Given the description of an element on the screen output the (x, y) to click on. 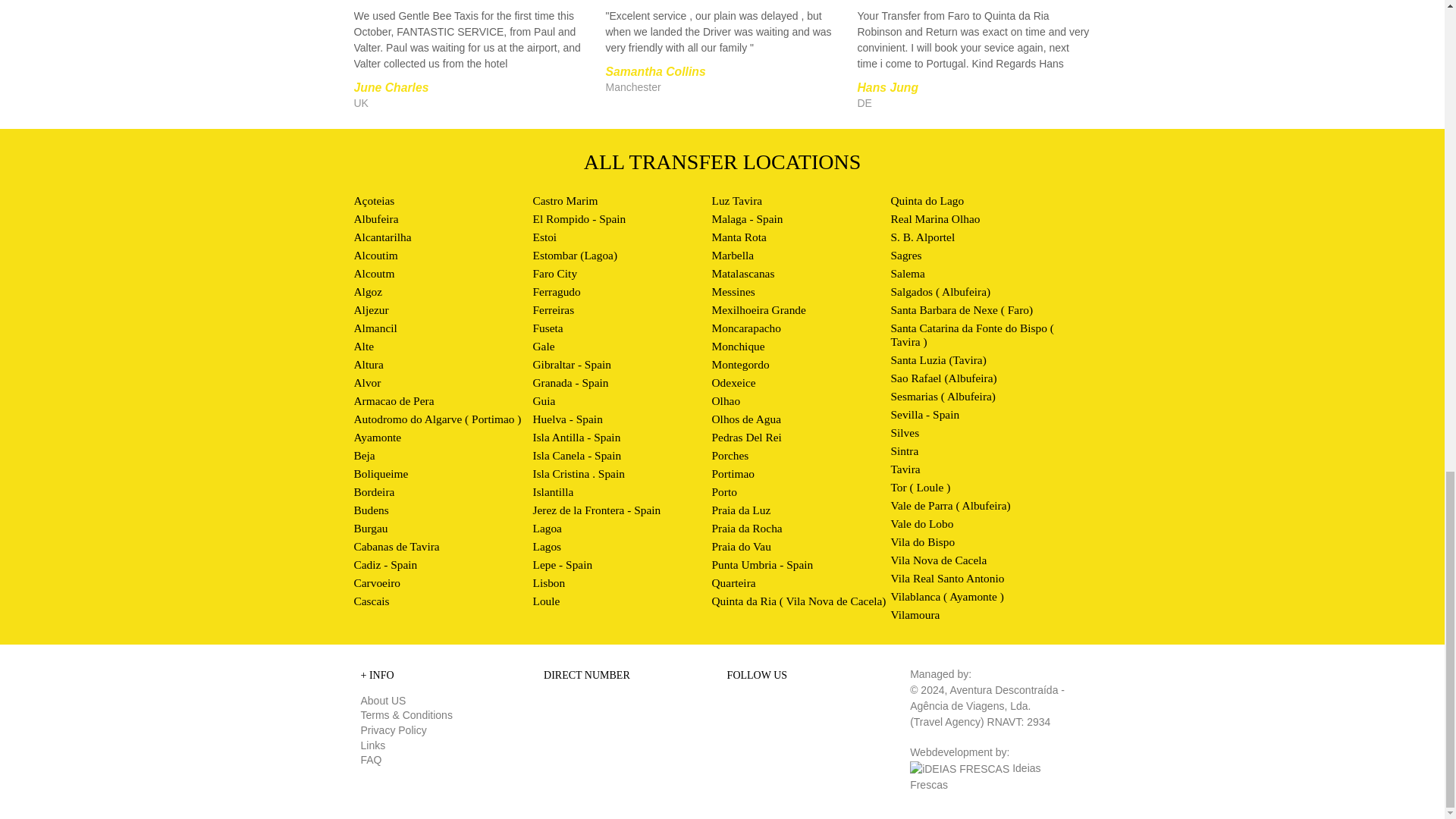
Algoz (367, 291)
Albufeira (375, 218)
Almancil (374, 327)
Alcoutm (373, 273)
Alte (363, 345)
know more about Alcantarilha (381, 236)
Altura (367, 364)
Aljezur (370, 309)
Alcantarilha (381, 236)
know more about Albufeira (375, 218)
